Given the description of an element on the screen output the (x, y) to click on. 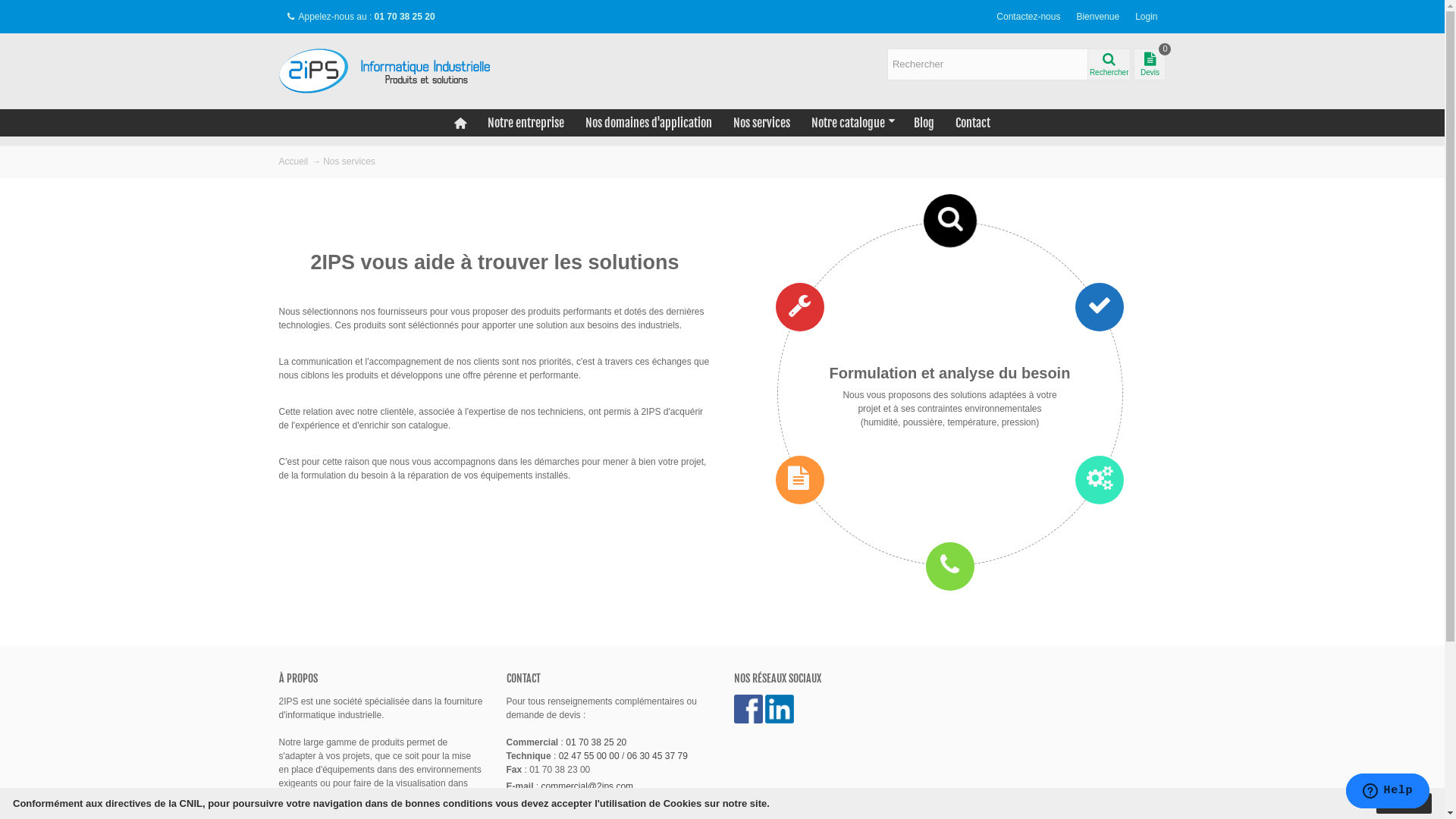
J'accepte Element type: text (1403, 803)
Contactez-nous Element type: text (1028, 16)
Devis
0 Element type: text (1149, 64)
Rechercher Element type: text (1109, 64)
Login Element type: text (1145, 16)
Notre entreprise Element type: text (525, 122)
Notre catalogue Element type: text (851, 122)
06 30 45 37 79 Element type: text (657, 755)
Nos services Element type: text (761, 122)
Contact Element type: text (972, 122)
commercial@2ips.com Element type: text (587, 786)
01 70 38 25 20 Element type: text (595, 742)
Nos domaines d'application Element type: text (648, 122)
02 47 55 00 00 Element type: text (588, 755)
Blog Element type: text (923, 122)
Accueil Element type: text (293, 161)
2IPS Element type: hover (392, 70)
